Given the description of an element on the screen output the (x, y) to click on. 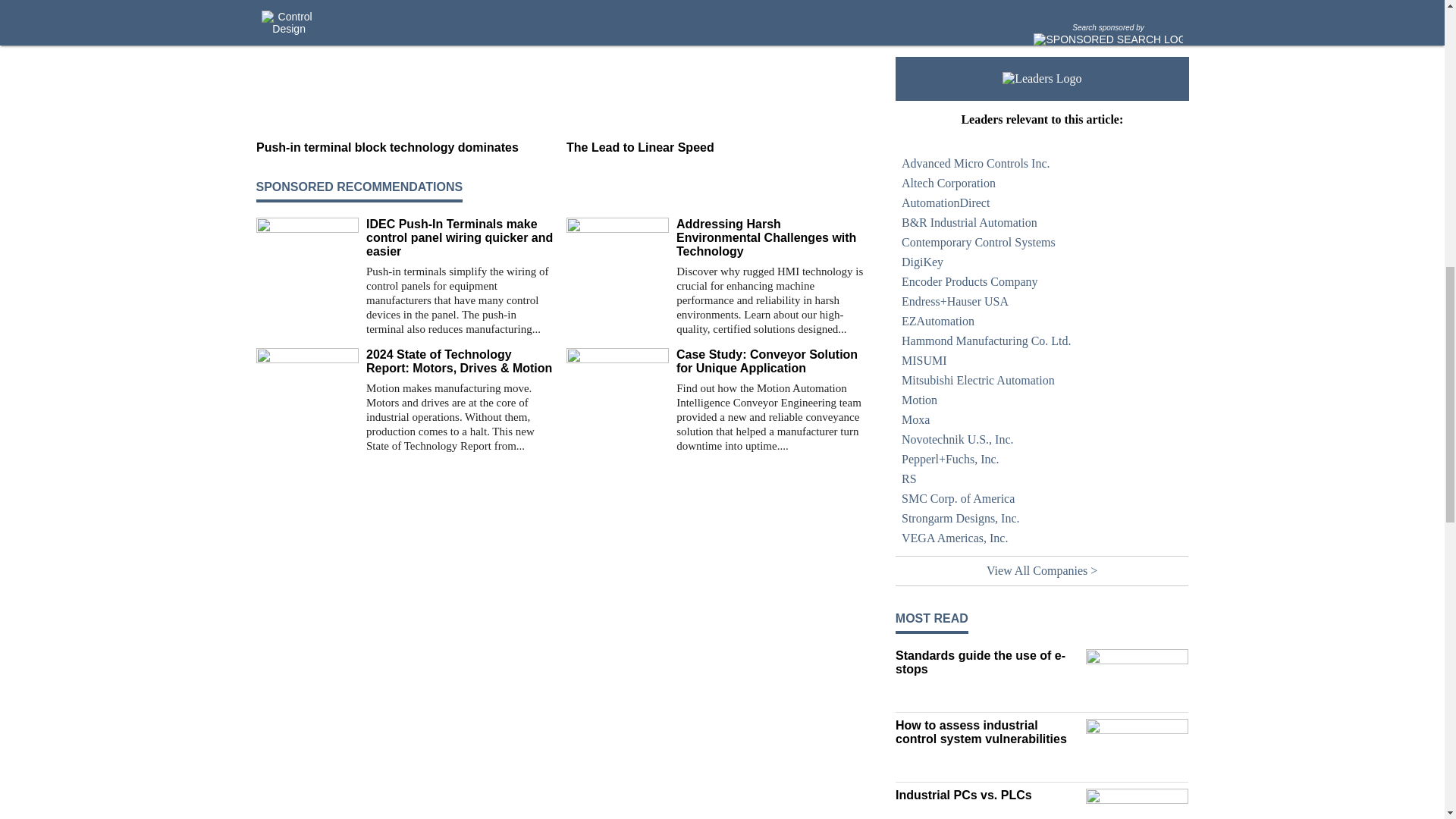
Altech Corporation (1042, 183)
Case Study: Conveyor Solution for Unique Application (770, 361)
Push-in terminal block technology dominates (405, 147)
Advanced Micro Controls Inc. (1042, 163)
Addressing Harsh Environmental Challenges with Technology (770, 237)
Encoder Products Company (1042, 281)
Contemporary Control Systems (1042, 242)
PLCopen elects board of management at annual meeting (986, 9)
DigiKey (1042, 261)
AutomationDirect (1042, 202)
The Lead to Linear Speed (715, 147)
